Given the description of an element on the screen output the (x, y) to click on. 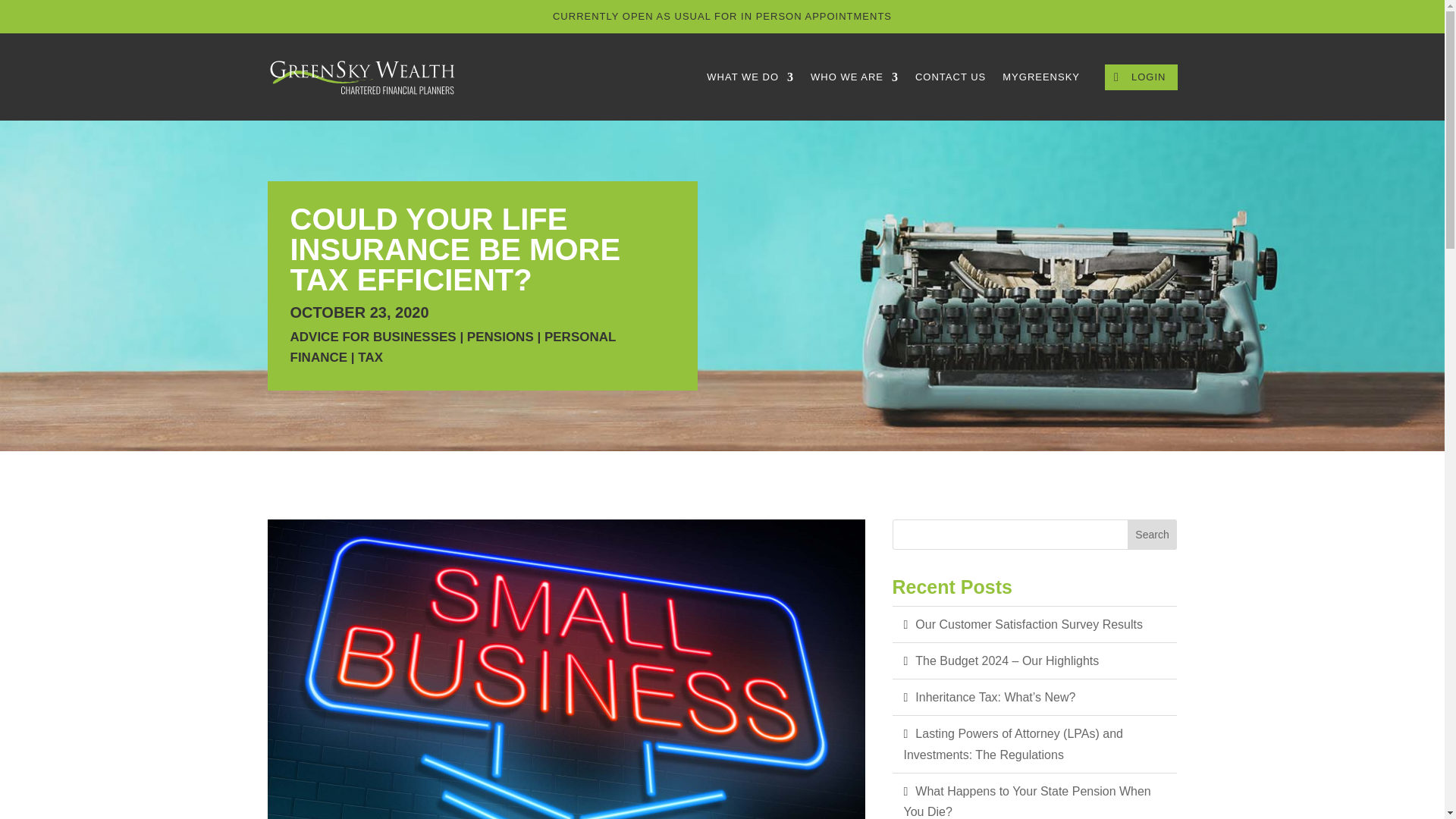
Our Customer Satisfaction Survey Results (1033, 624)
WHAT WE DO (749, 77)
WHO WE ARE (854, 77)
Search (1151, 534)
MYGREENSKY (1041, 77)
PENSIONS (500, 336)
LOGIN (1140, 77)
Search (1151, 534)
PERSONAL FINANCE (452, 347)
TAX (370, 357)
ADVICE FOR BUSINESSES (372, 336)
What Happens to Your State Pension When You Die? (1033, 796)
